Given the description of an element on the screen output the (x, y) to click on. 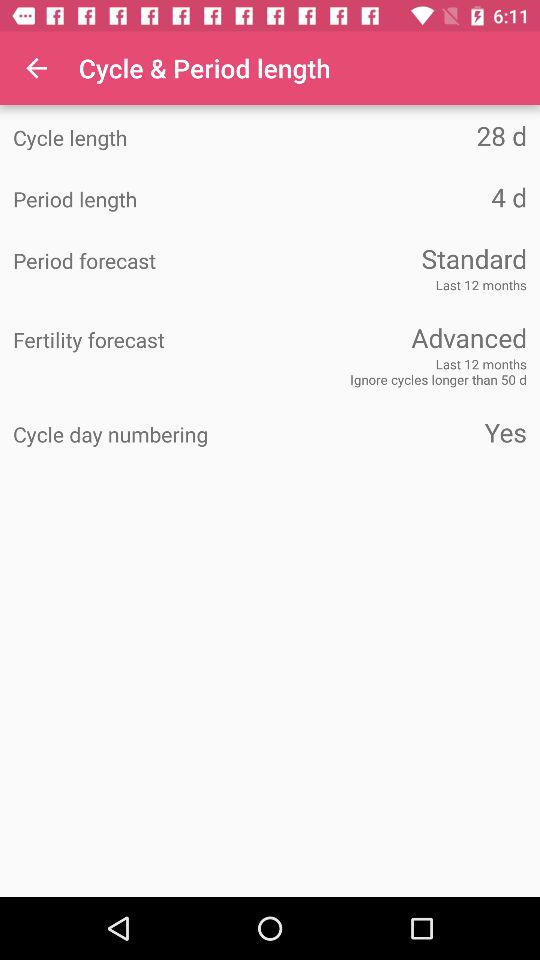
turn on the item above the cycle length item (36, 68)
